Given the description of an element on the screen output the (x, y) to click on. 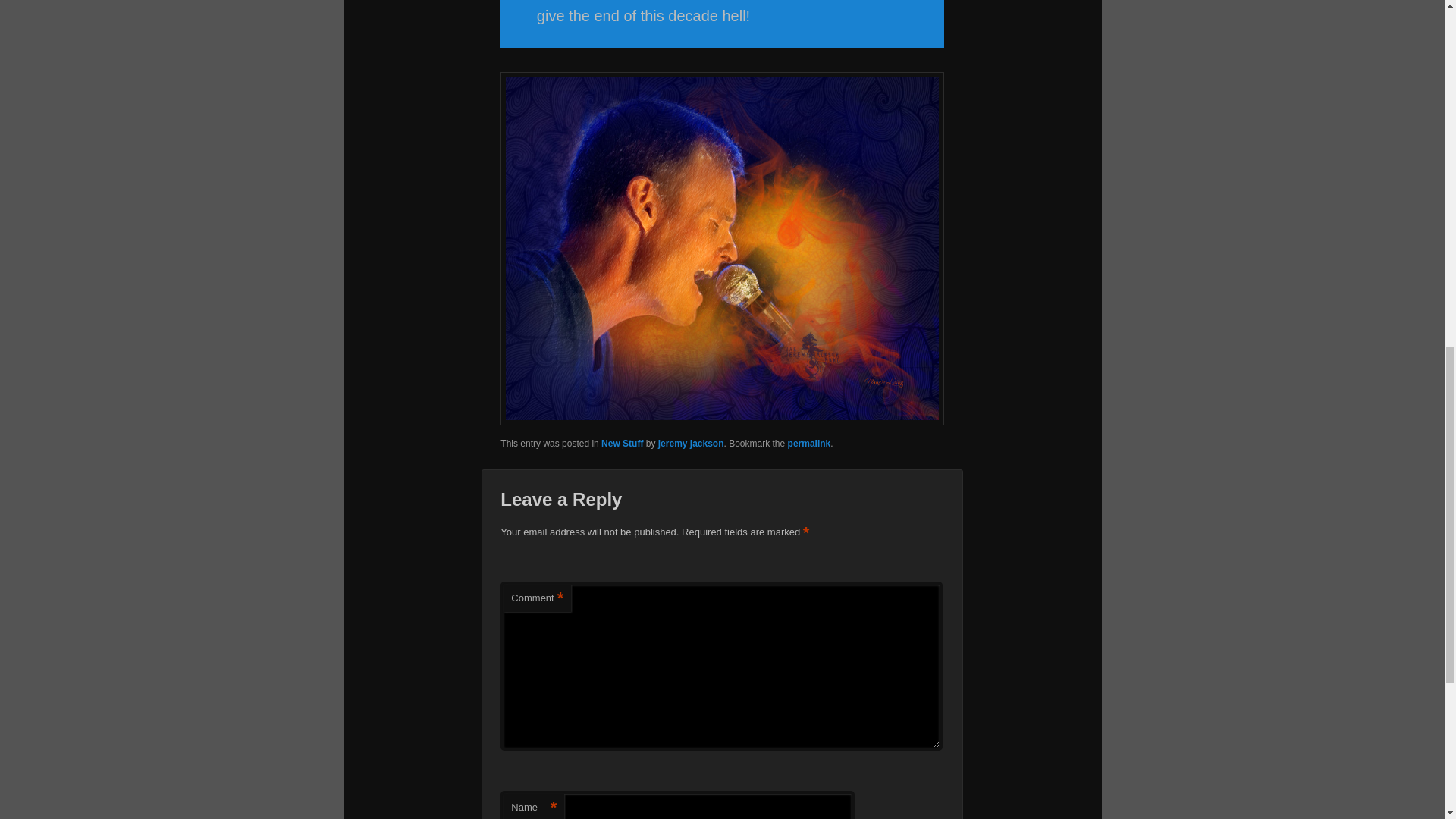
permalink (809, 443)
New Stuff (622, 443)
Permalink to Happy New Year!! (809, 443)
jeremy jackson (690, 443)
